Given the description of an element on the screen output the (x, y) to click on. 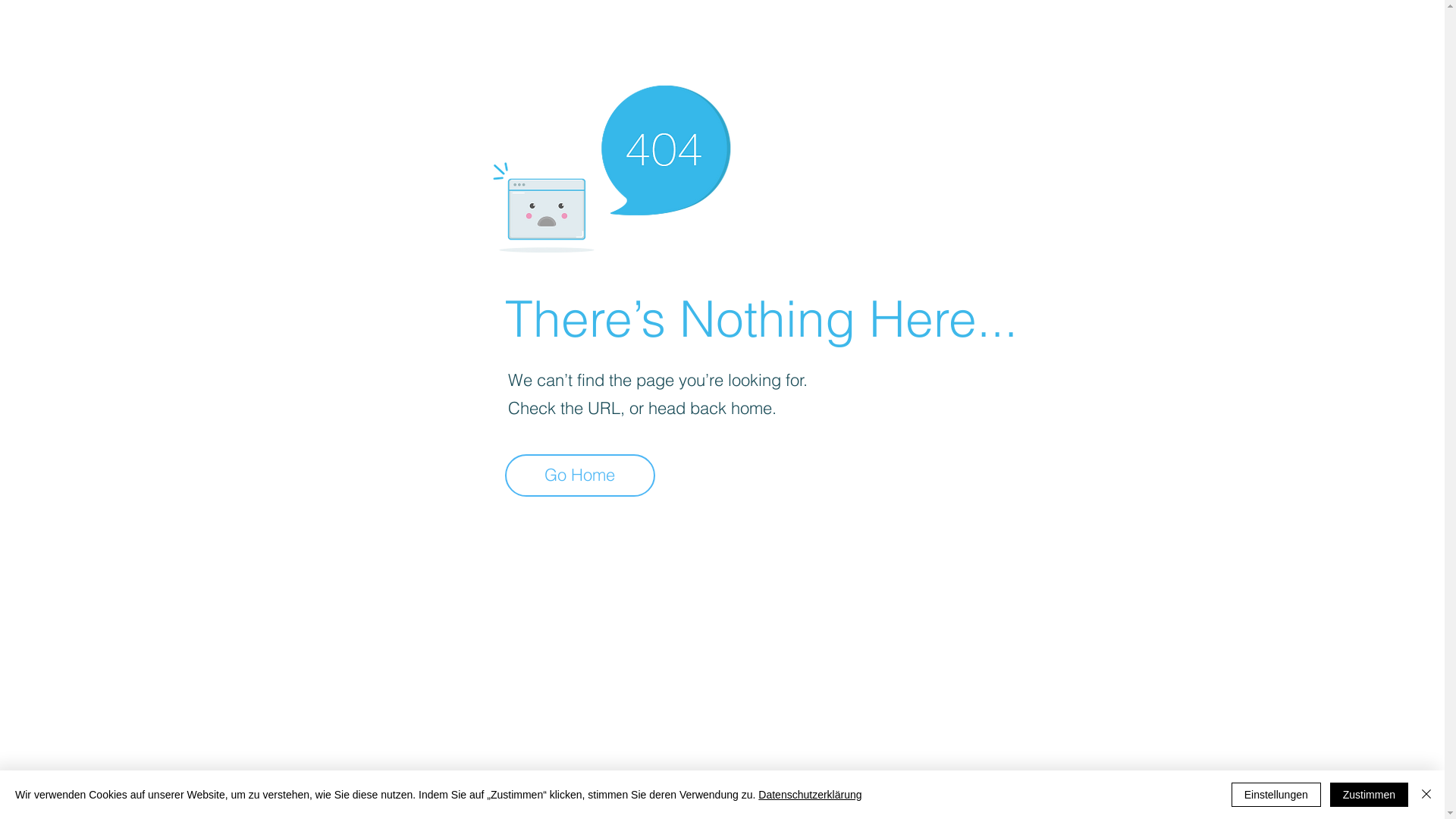
Go Home Element type: text (580, 470)
Einstellungen Element type: text (1276, 794)
Zustimmen Element type: text (1369, 794)
404-icon_2.png Element type: hover (610, 164)
